Given the description of an element on the screen output the (x, y) to click on. 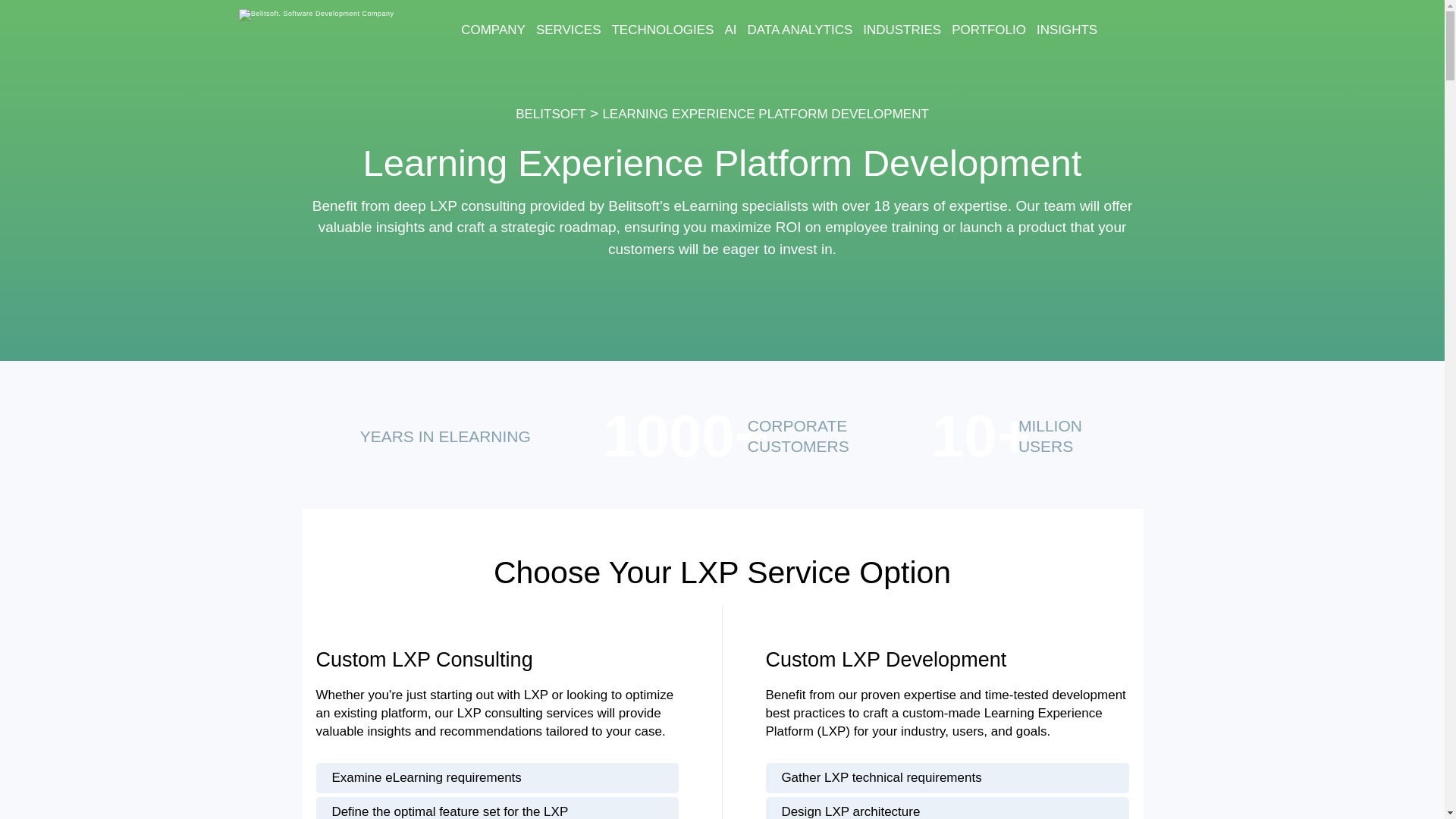
COMPANY (493, 29)
SERVICES (569, 29)
